Given the description of an element on the screen output the (x, y) to click on. 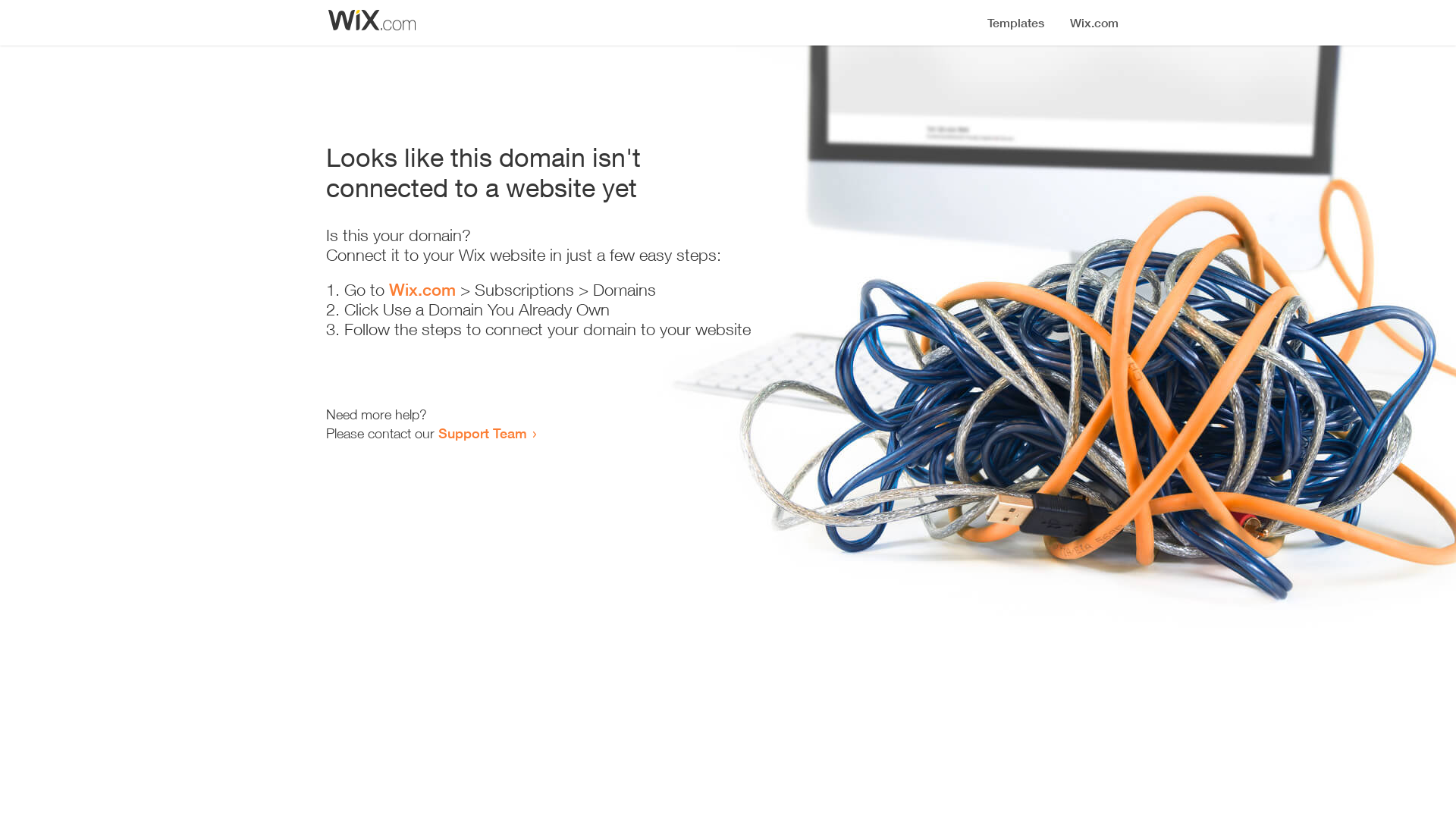
Wix.com Element type: text (422, 289)
Support Team Element type: text (482, 432)
